Given the description of an element on the screen output the (x, y) to click on. 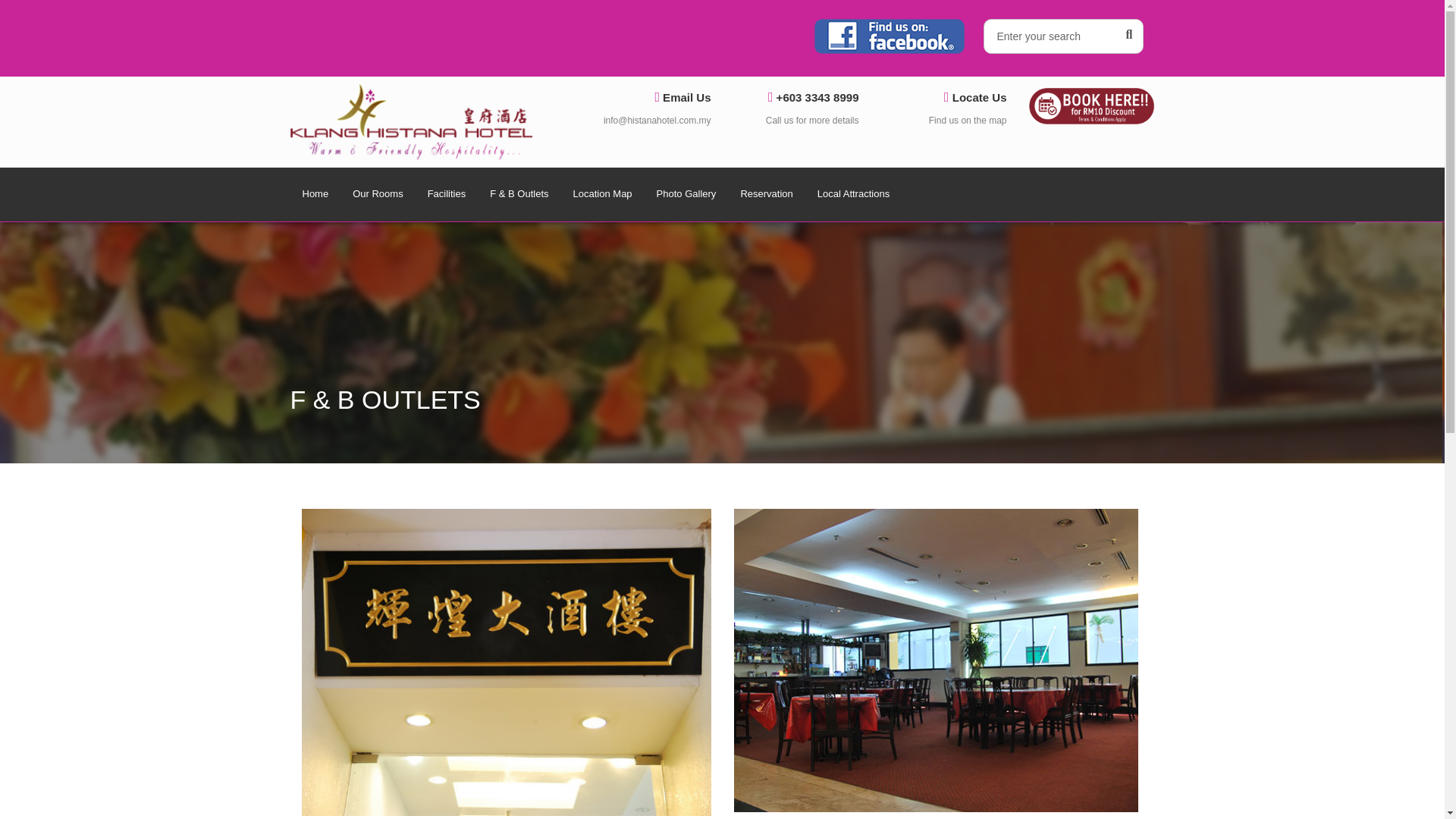
Enter your search (1062, 36)
Facilities (446, 194)
Location Map (602, 194)
Find us on the map (967, 120)
Our Rooms (377, 194)
Call us for more details (812, 120)
Local Attractions (853, 194)
Home (314, 194)
Reservation (766, 194)
Photo Gallery (687, 194)
